Given the description of an element on the screen output the (x, y) to click on. 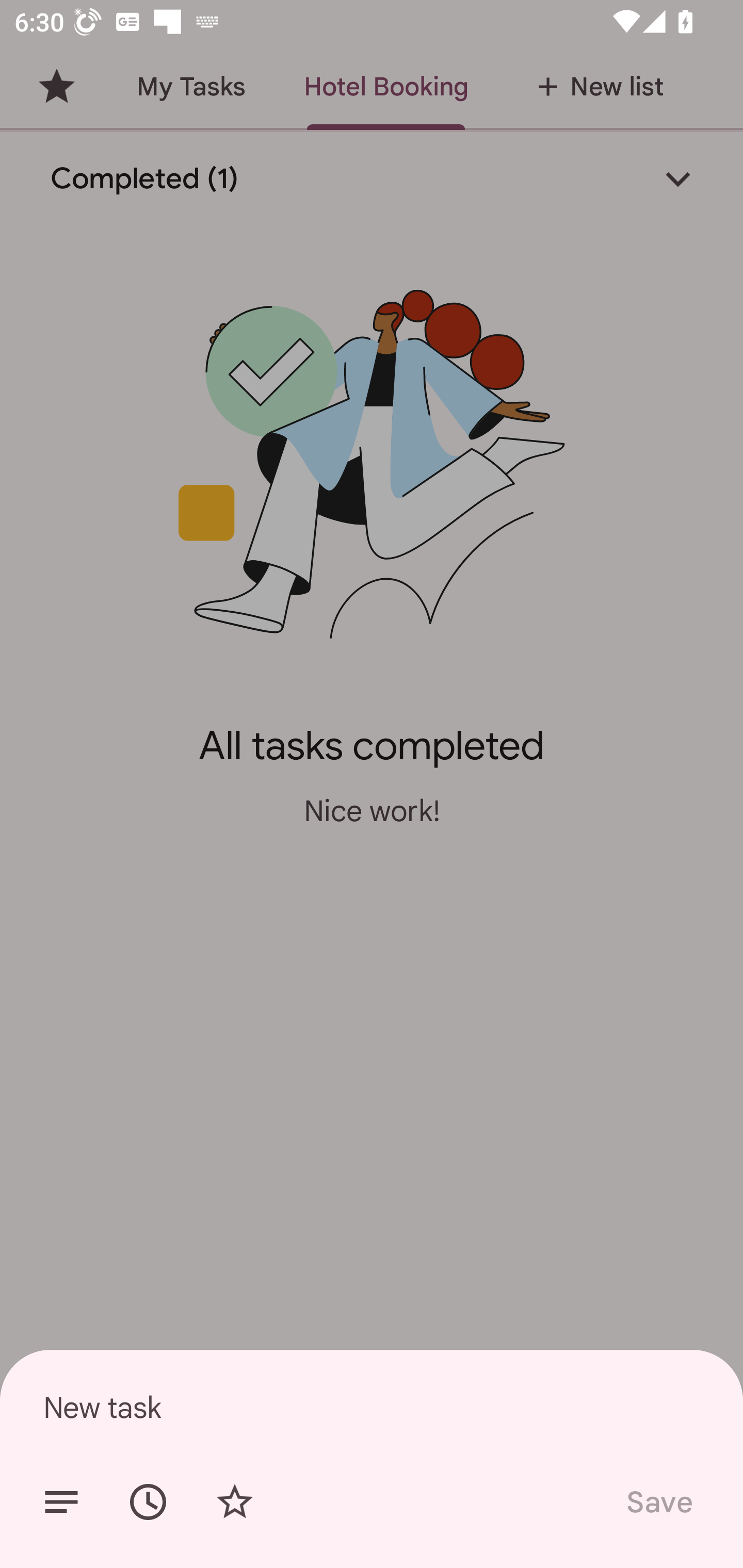
New task (371, 1407)
Save (659, 1501)
Add details (60, 1501)
Set date/time (147, 1501)
Add star (234, 1501)
